Given the description of an element on the screen output the (x, y) to click on. 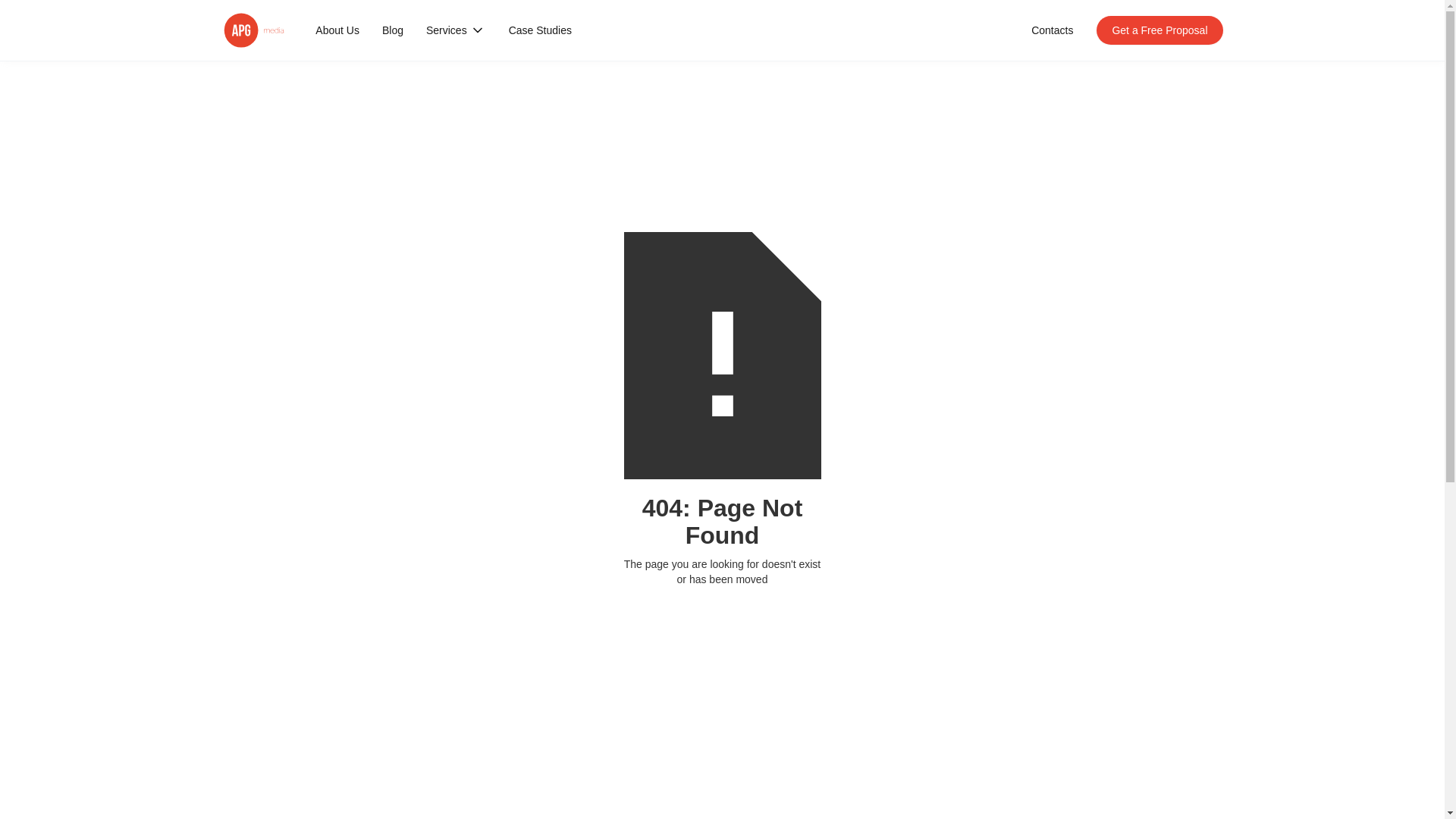
Contacts (1051, 29)
Get a Free Proposal (1159, 30)
About Us (337, 30)
Case Studies (540, 30)
